Given the description of an element on the screen output the (x, y) to click on. 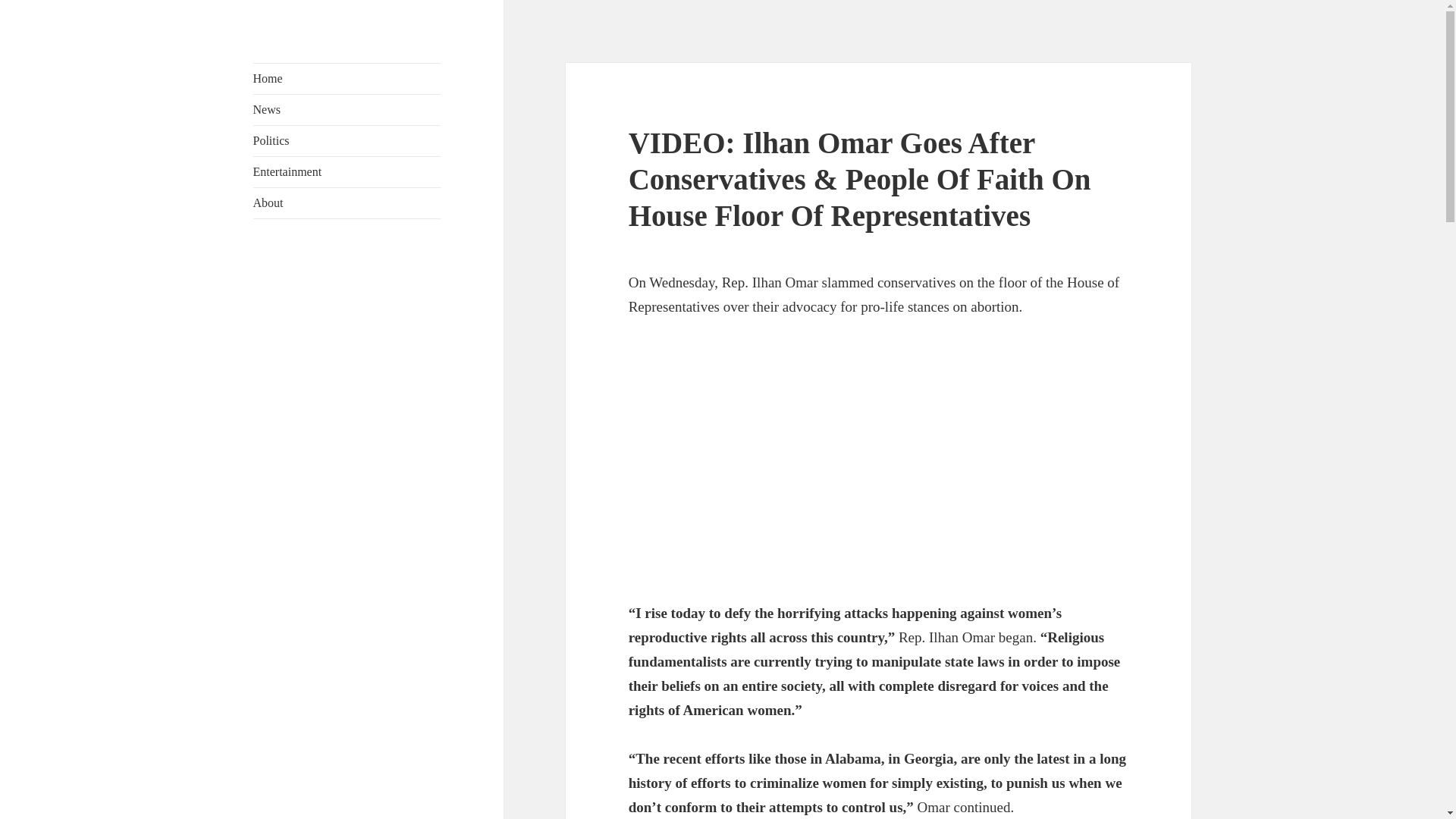
Entertainment (347, 172)
3rd party ad content (878, 464)
News (347, 110)
News Metropolis (334, 74)
Home (347, 78)
About (347, 203)
Politics (347, 141)
